Given the description of an element on the screen output the (x, y) to click on. 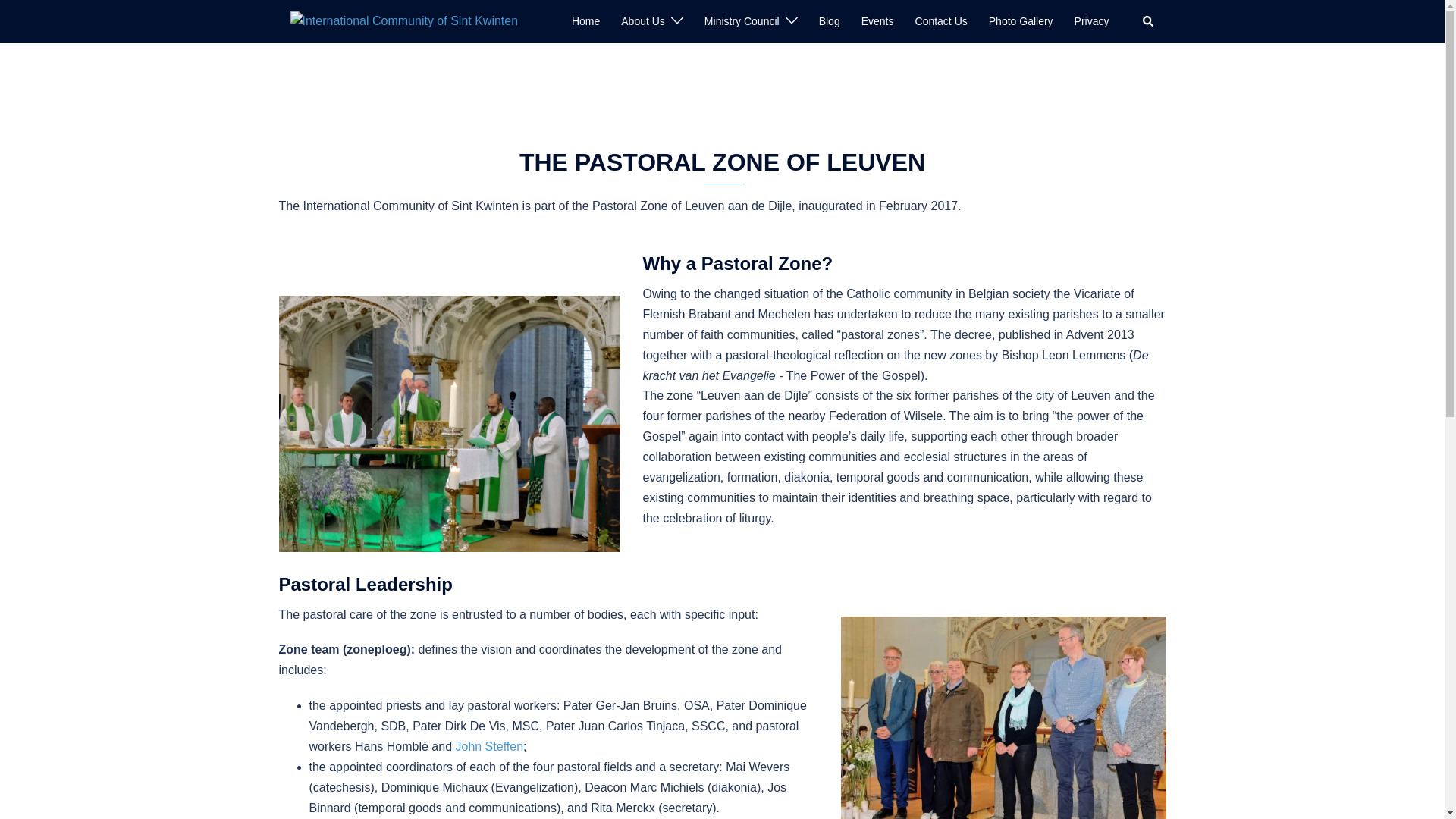
Privacy Element type: text (1091, 21)
Ministry Council Element type: text (741, 21)
Events Element type: text (877, 21)
Photo Gallery Element type: text (1020, 21)
John Steffen Element type: text (487, 746)
Contact Us Element type: text (941, 21)
Home Element type: text (585, 21)
About Us Element type: text (643, 21)
Blog Element type: text (829, 21)
International Community of Sint Kwinten Element type: hover (403, 20)
Search Element type: text (1148, 21)
